Given the description of an element on the screen output the (x, y) to click on. 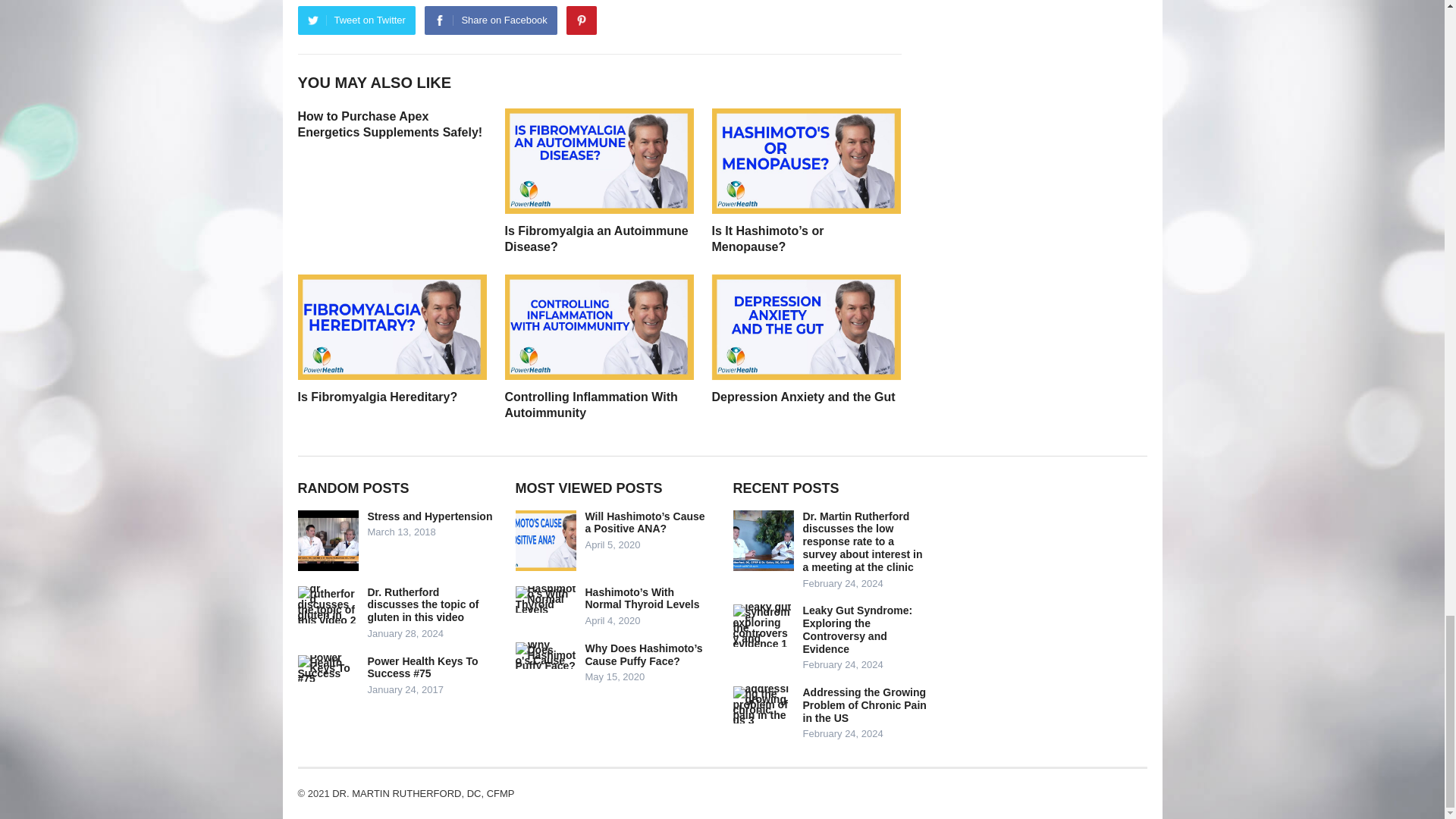
Is Fibromyalgia Hereditary? 6 (391, 327)
Is Fibromyalgia an Autoimmune Disease? 2 (599, 160)
Controlling Inflammation With Autoimmunity 8 (599, 327)
Depression Anxiety and the Gut 10 (805, 327)
Is It Hashimoto's or Menopause? 4 (805, 160)
